Given the description of an element on the screen output the (x, y) to click on. 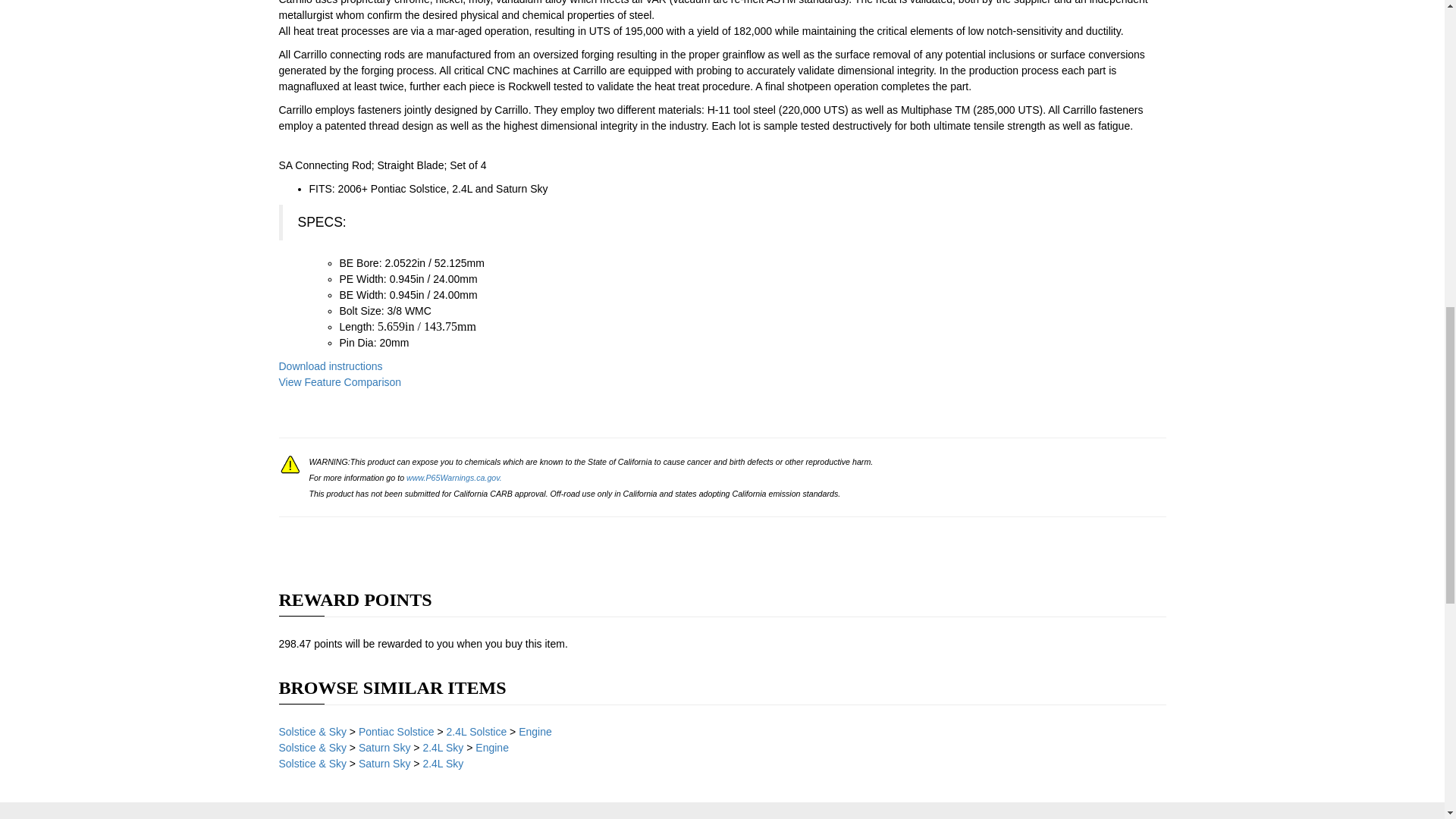
Carrillo Rod instructions (330, 366)
Carrillo Feature Comparison (340, 381)
